Given the description of an element on the screen output the (x, y) to click on. 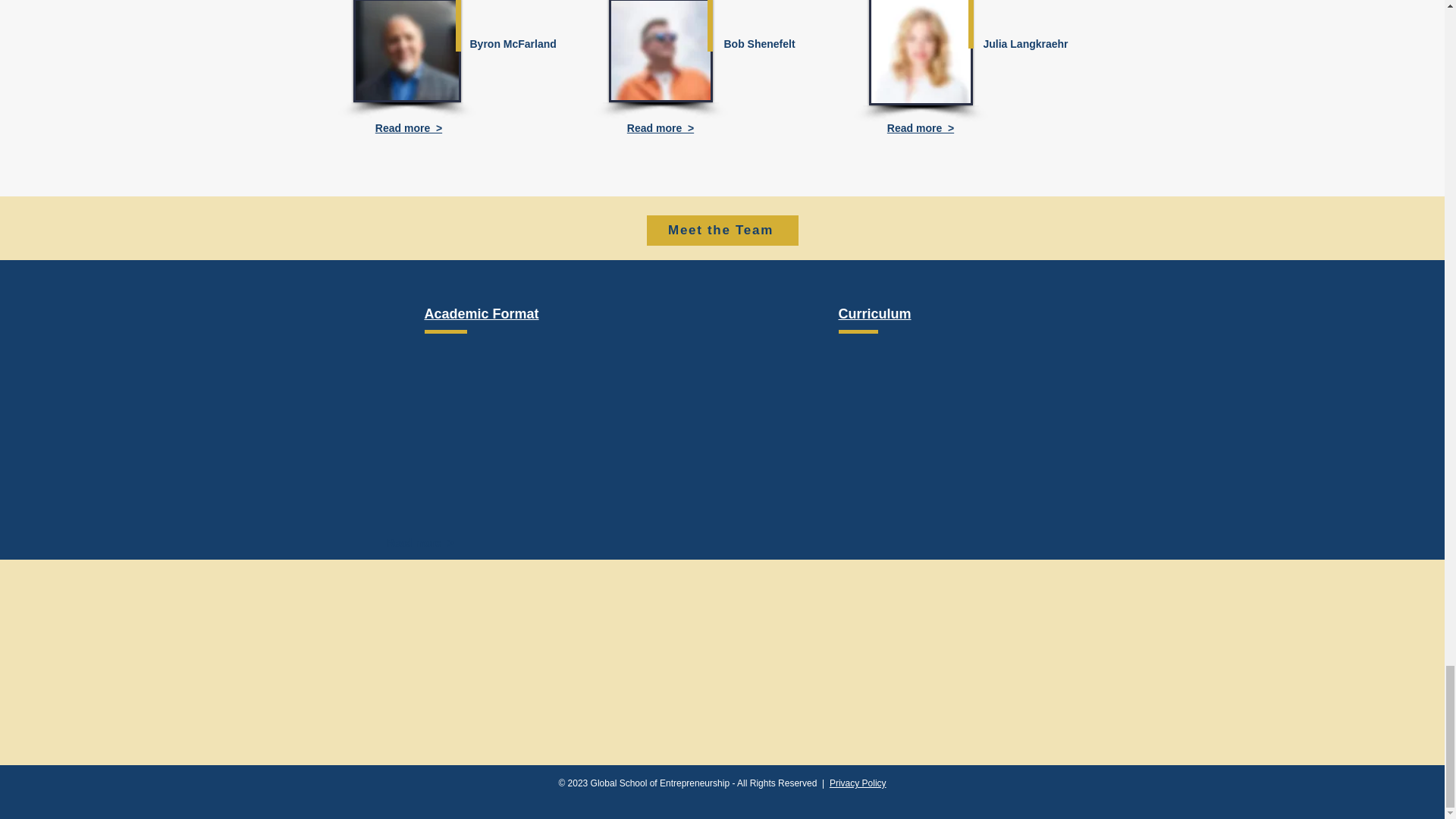
stock-photo-bearded-middle-aged-man-wear (659, 51)
Meet the Team (721, 230)
Curriculum (874, 313)
Privacy Policy (857, 783)
Academic Format (481, 313)
stock-photo-bearded-middle-aged-man-wear (920, 52)
